Given the description of an element on the screen output the (x, y) to click on. 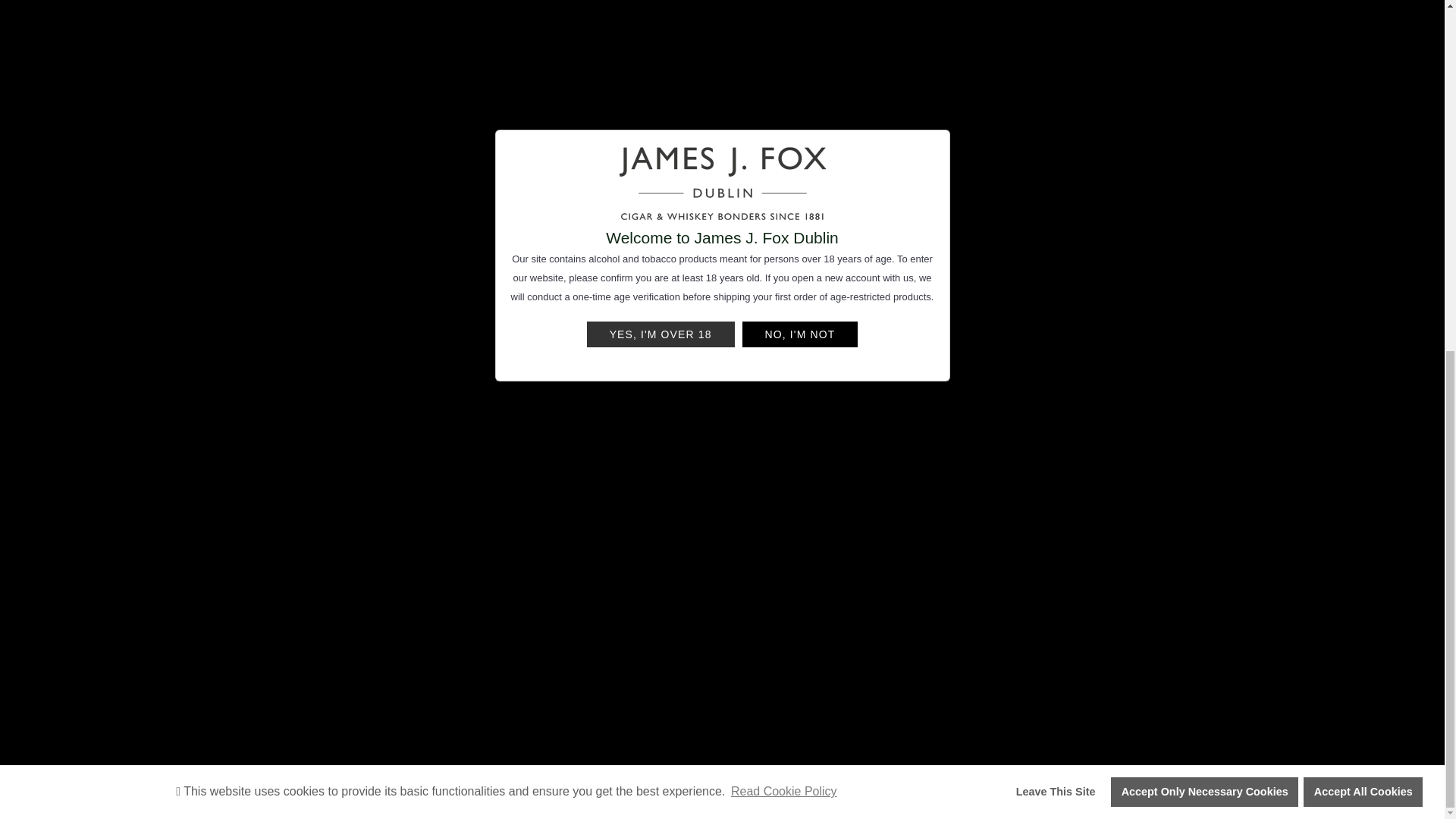
Twitter (46, 568)
Twitter (822, 255)
Read Cookie Policy (784, 180)
Pinterest (844, 255)
Instagram (103, 568)
Facebook (800, 255)
Accept Only Necessary Cookies (1204, 181)
Facebook (73, 568)
Accept All Cookies (1362, 181)
Leave This Site (1055, 181)
